Given the description of an element on the screen output the (x, y) to click on. 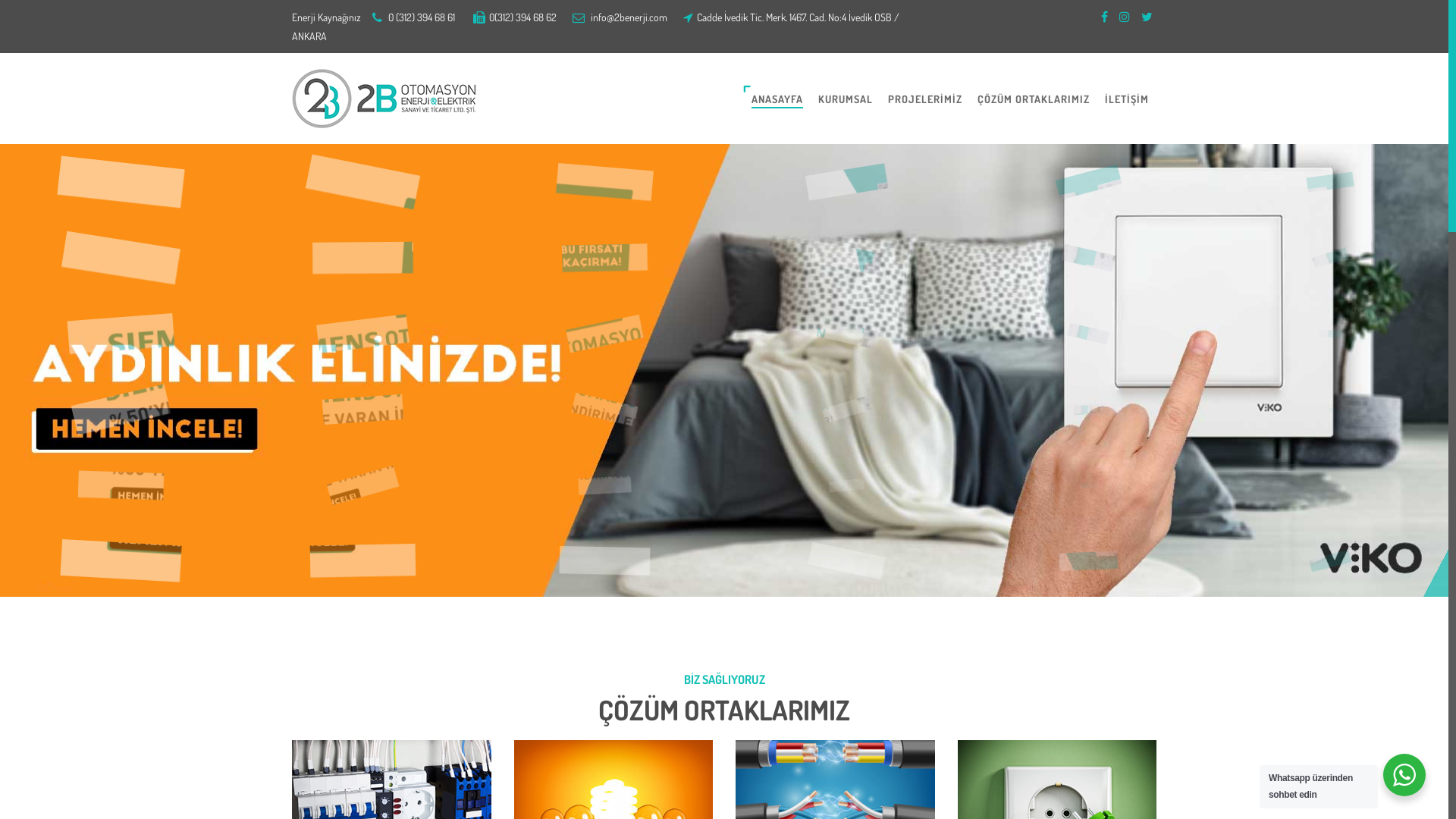
ANASAYFA Element type: text (777, 98)
KURUMSAL Element type: text (845, 98)
